Given the description of an element on the screen output the (x, y) to click on. 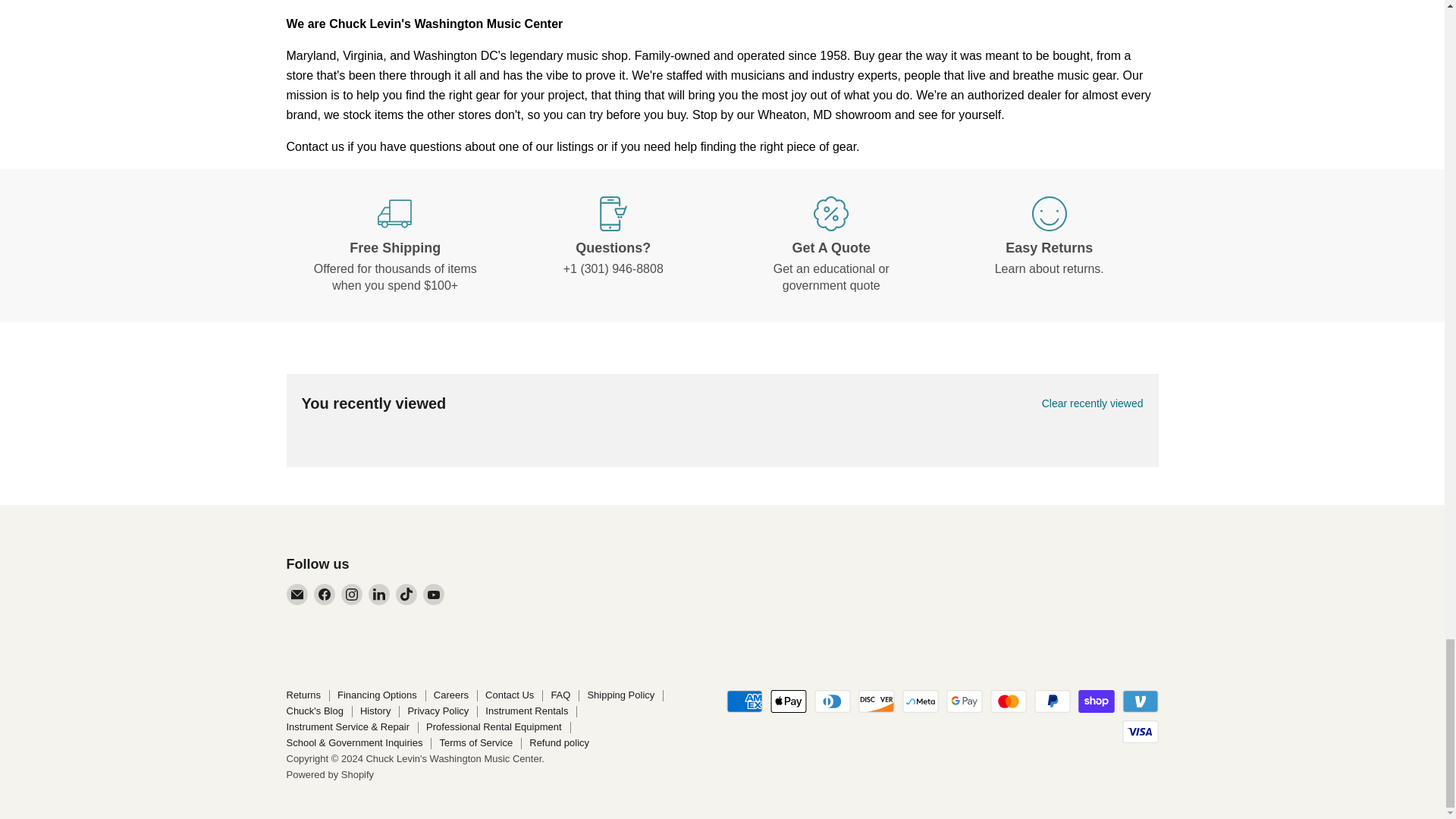
Email (296, 594)
Facebook (324, 594)
YouTube (433, 594)
LinkedIn (379, 594)
TikTok (406, 594)
Instagram (351, 594)
